Given the description of an element on the screen output the (x, y) to click on. 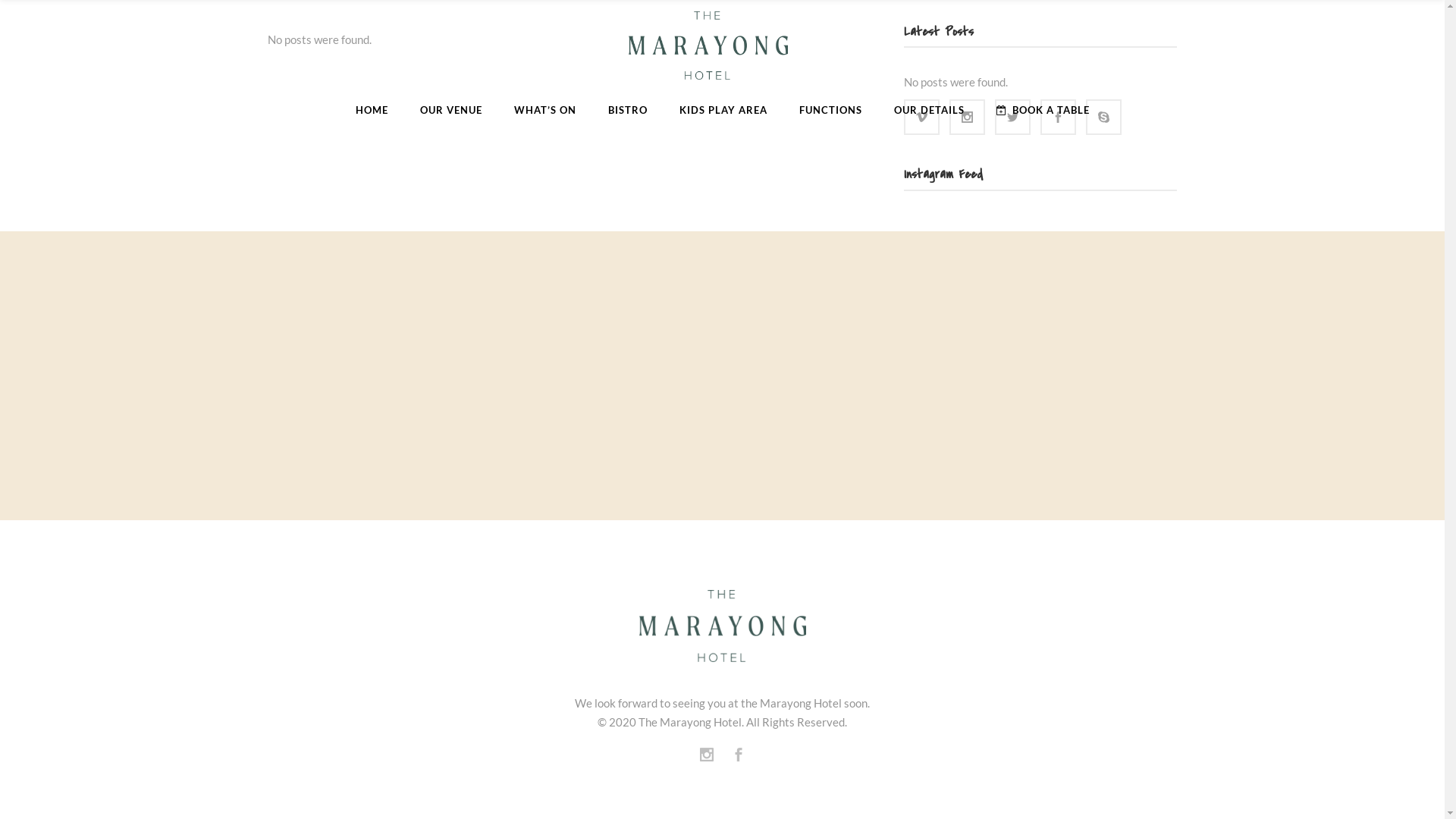
U Element type: text (987, 411)
BISTRO Element type: text (626, 109)
OUR VENUE Element type: text (450, 109)
OUR DETAILS Element type: text (929, 109)
HOME Element type: text (371, 109)
FUNCTIONS Element type: text (829, 109)
BOOK A TABLE Element type: text (1041, 109)
KIDS PLAY AREA Element type: text (722, 109)
